Given the description of an element on the screen output the (x, y) to click on. 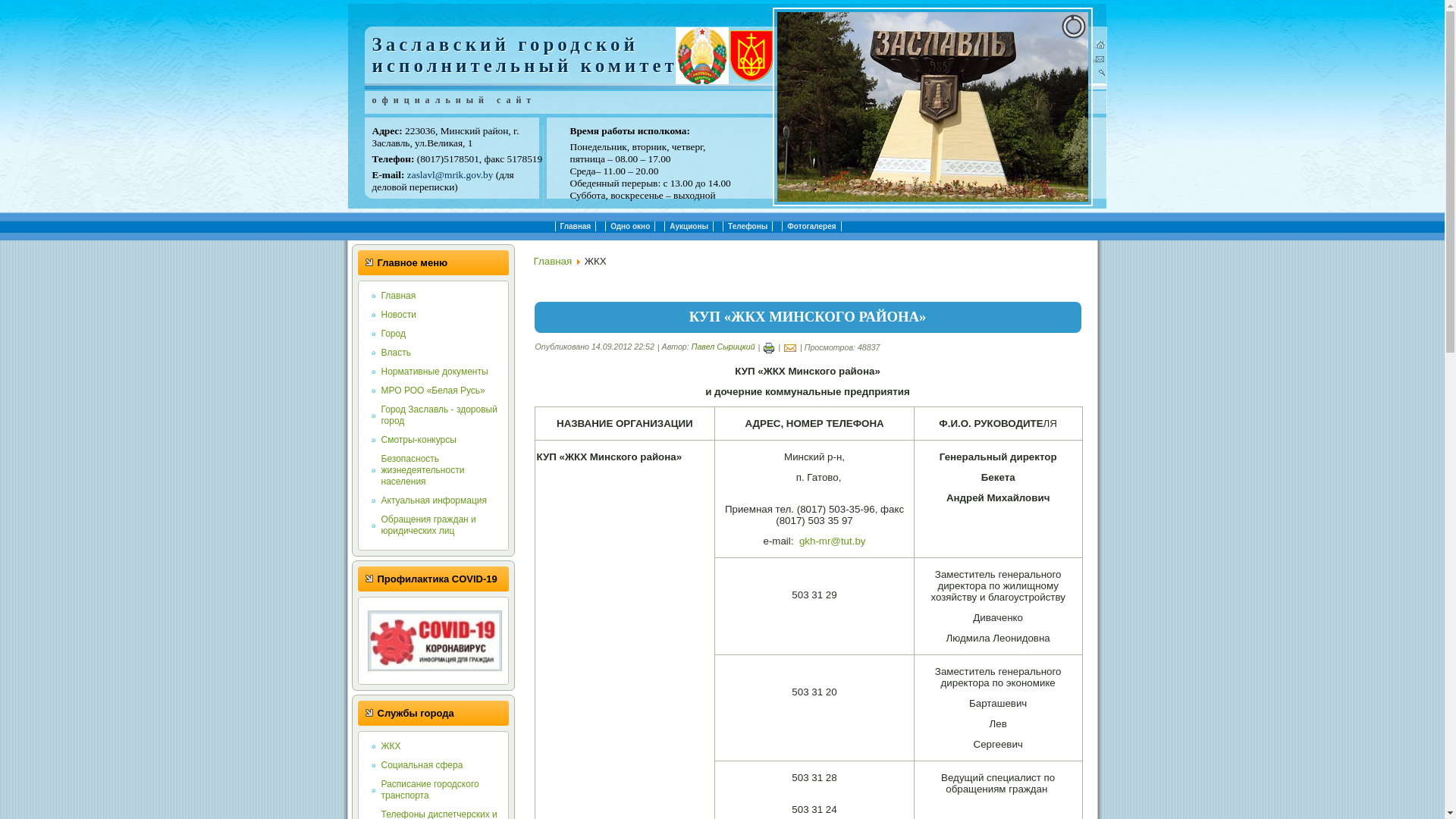
zaslavl@mrik.gov.by Element type: text (450, 174)
E-mail Element type: hover (789, 346)
gkh-mr@tut.by Element type: text (832, 540)
